Given the description of an element on the screen output the (x, y) to click on. 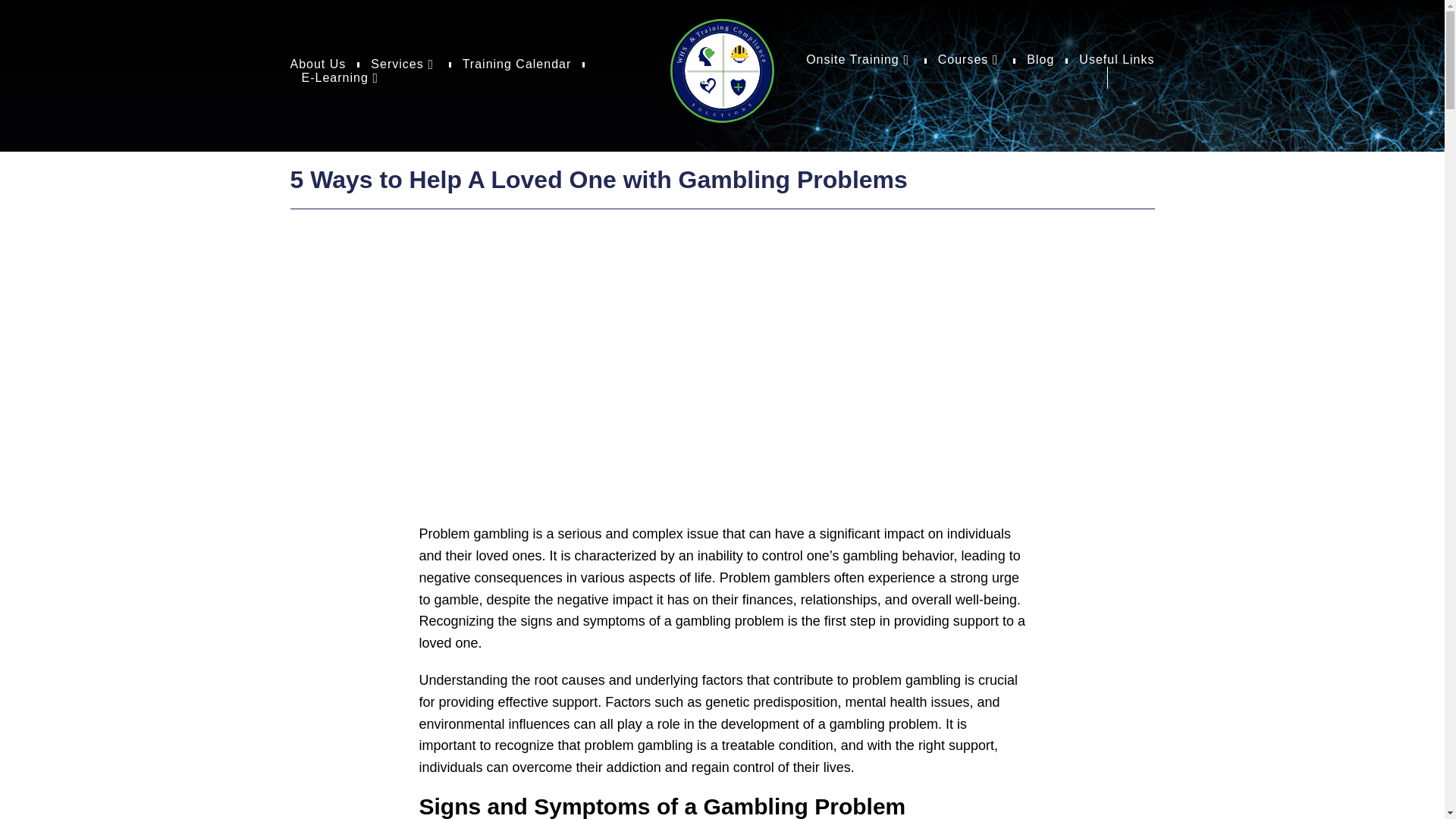
Training Calendar (517, 64)
E-Learning (341, 78)
Onsite Training (859, 59)
About Us (317, 64)
Services (403, 64)
